Given the description of an element on the screen output the (x, y) to click on. 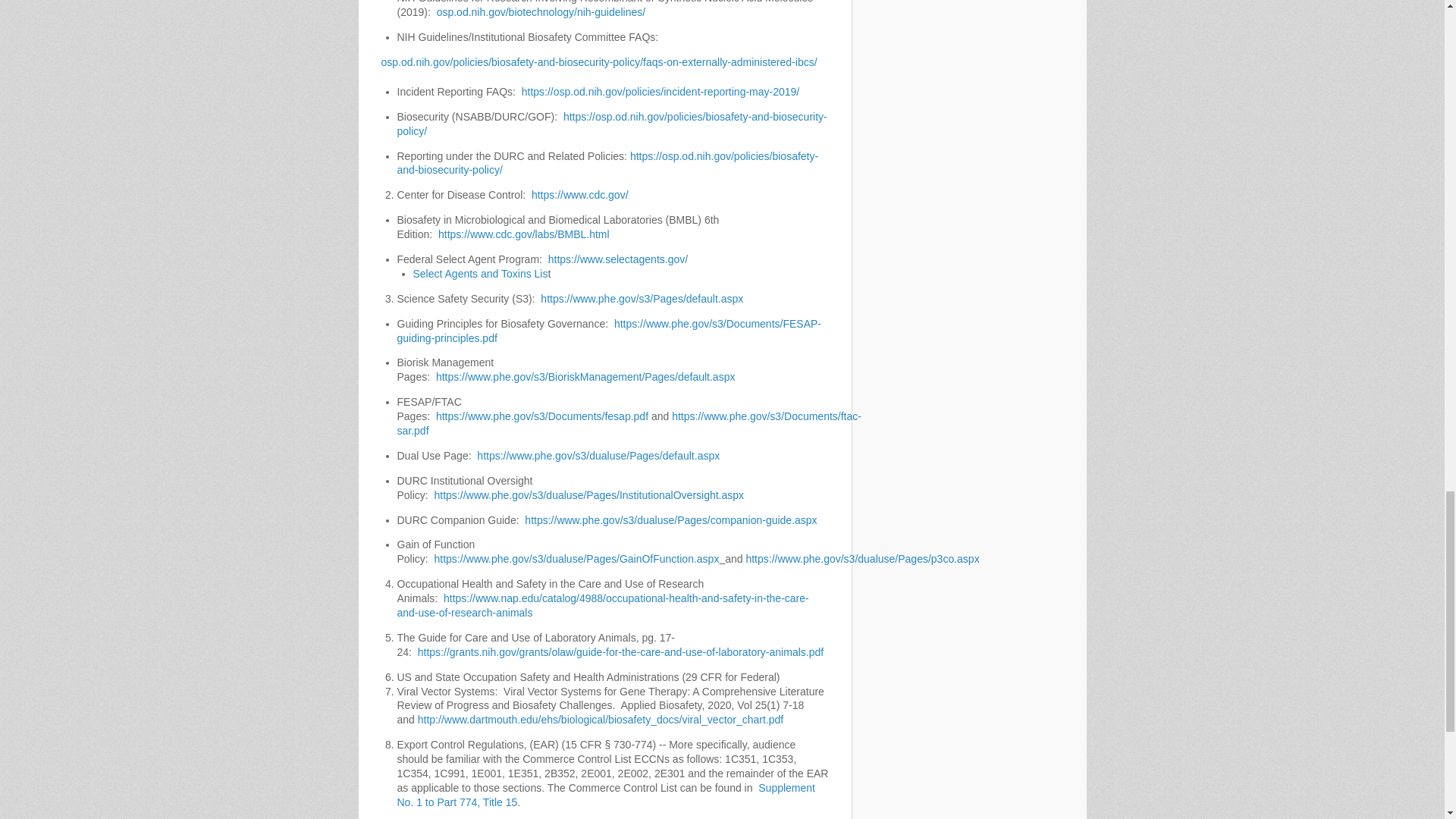
Supplement No. 1 to Part 774, Title 15 (606, 795)
Select Agents and Toxins Lis (479, 273)
